Given the description of an element on the screen output the (x, y) to click on. 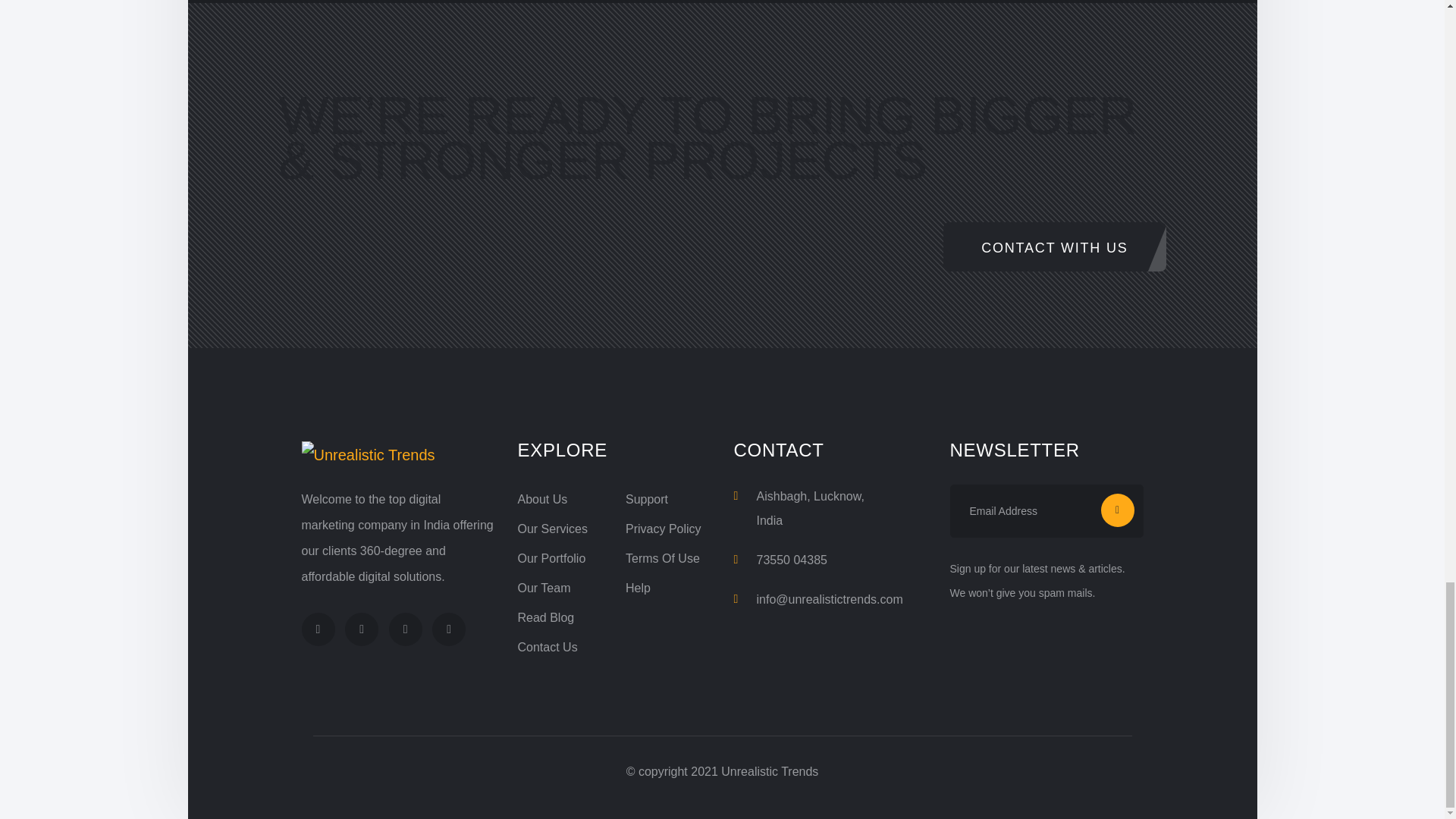
CONTACT WITH US (1054, 246)
